Given the description of an element on the screen output the (x, y) to click on. 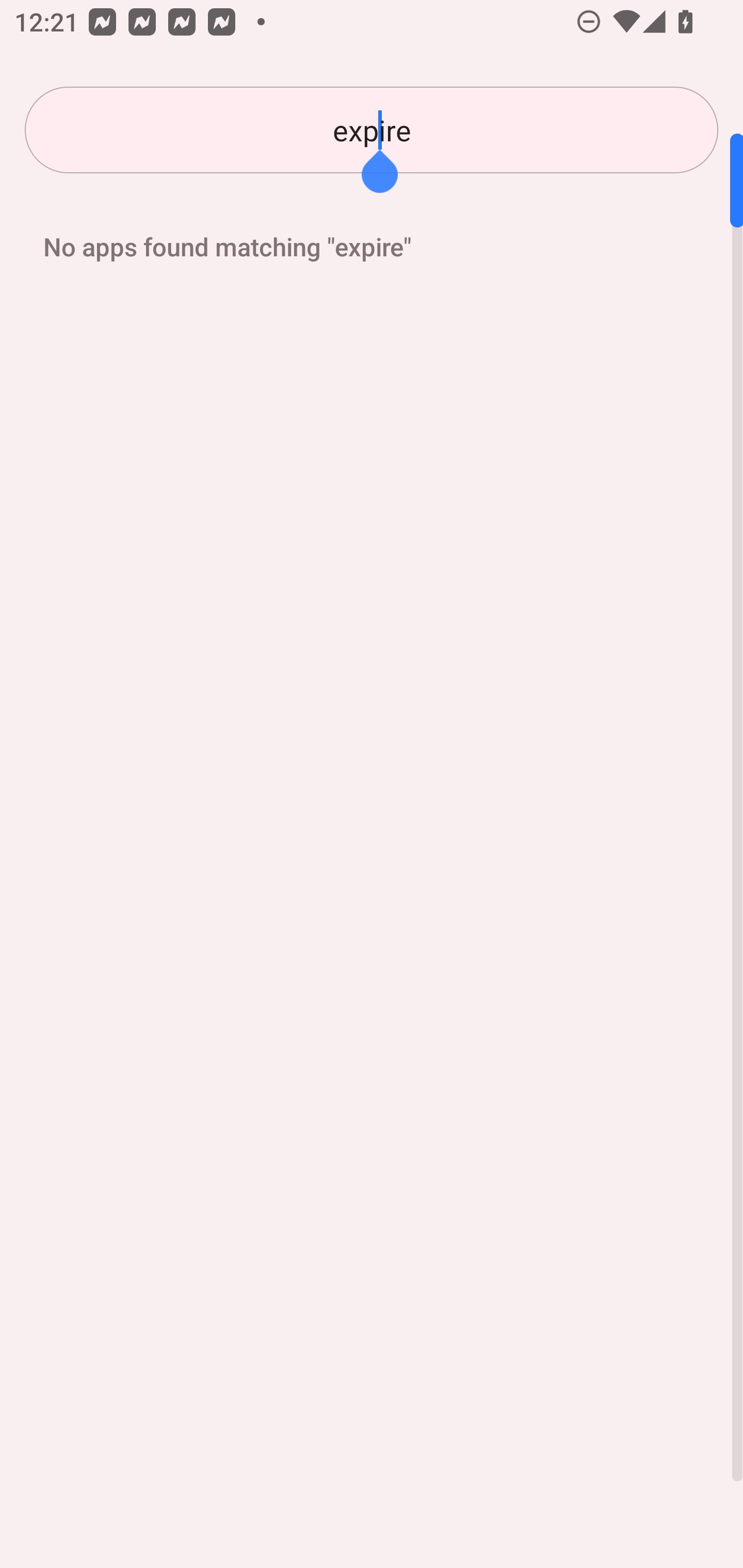
expire (371, 130)
